Given the description of an element on the screen output the (x, y) to click on. 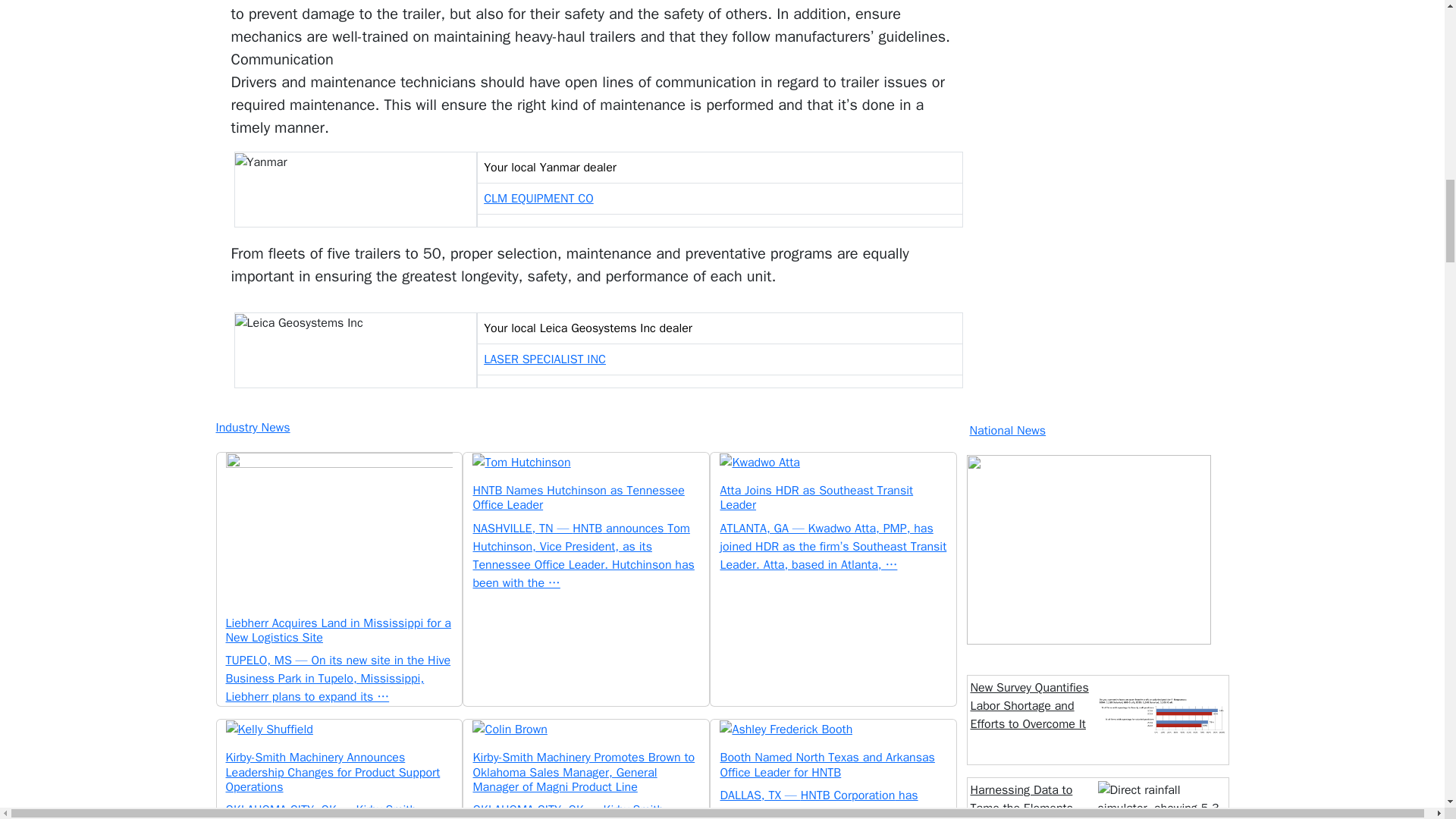
CLM EQUIPMENT CO (538, 198)
Industry News (584, 427)
LASER SPECIALIST INC (544, 359)
